Given the description of an element on the screen output the (x, y) to click on. 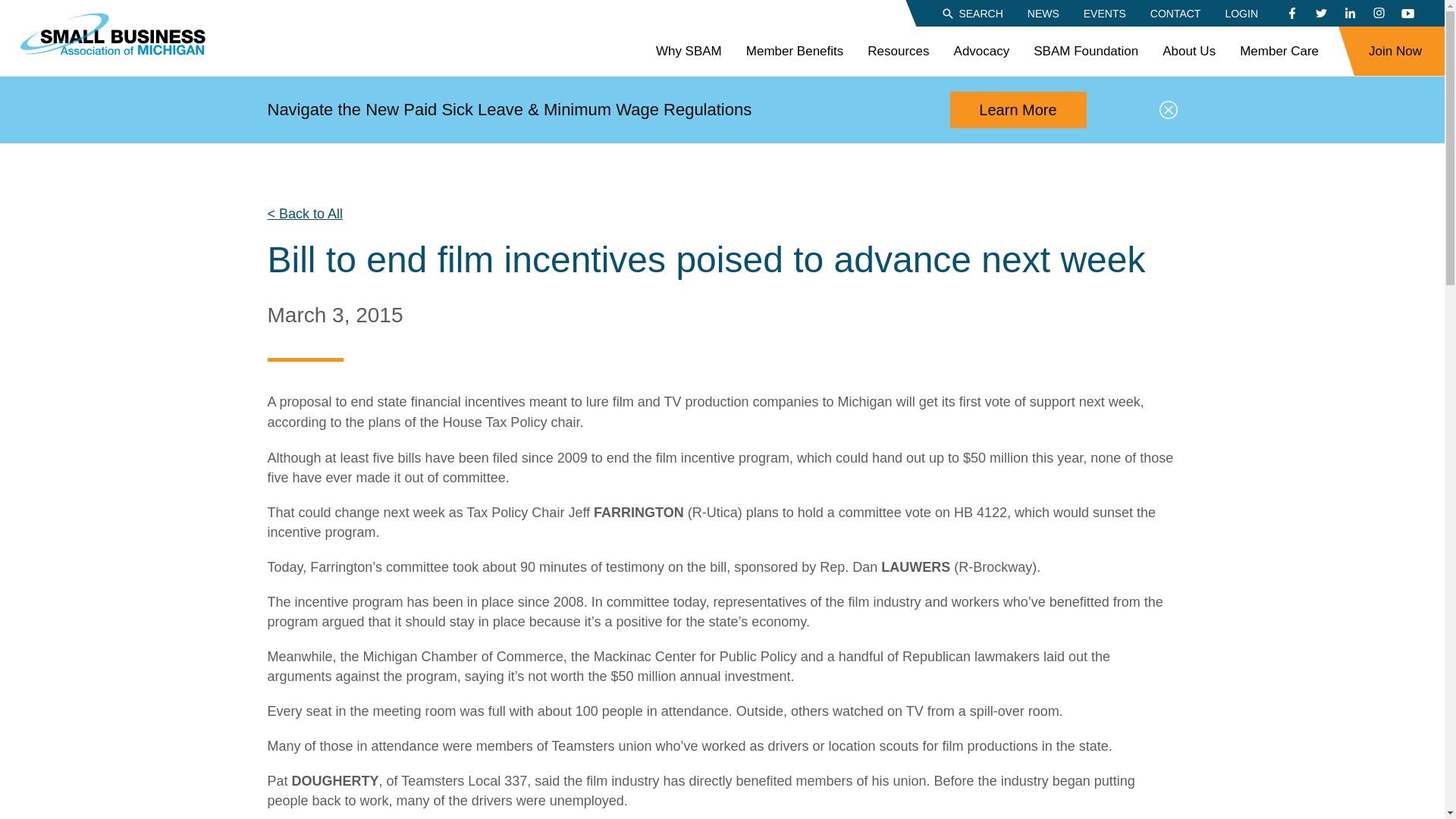
Why SBAM (688, 51)
YOUTUBE (1407, 13)
LOGIN (1241, 12)
SEARCH (971, 12)
Member Benefits (794, 51)
Skip to main content (11, 7)
NEWS (1043, 12)
TWITTER (1320, 13)
LINKEDIN (1349, 13)
CONTACT (1175, 12)
